Given the description of an element on the screen output the (x, y) to click on. 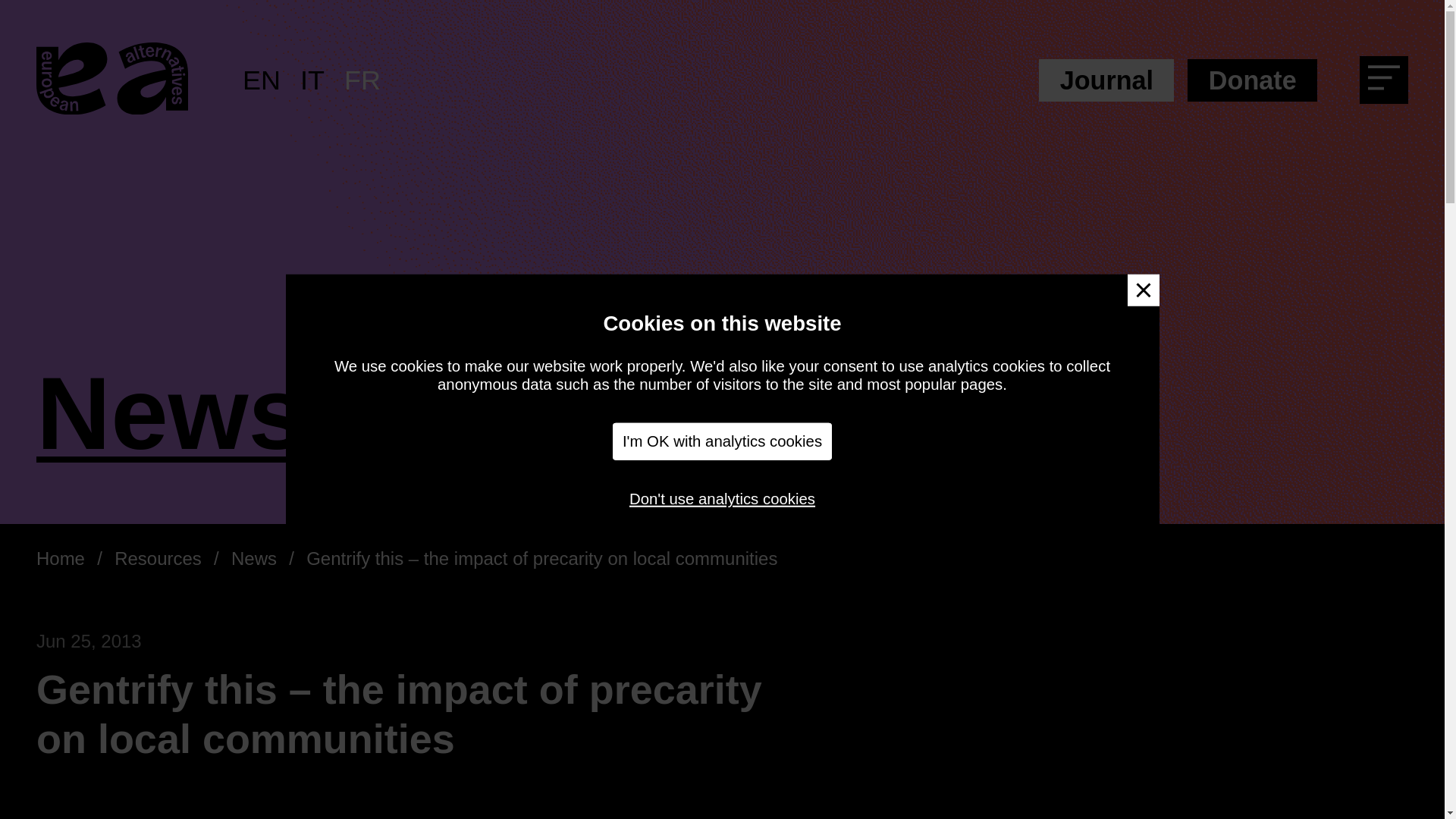
FR (361, 79)
EN (262, 79)
Dismiss message (1142, 290)
Donate (1252, 79)
Menu (1389, 82)
EN (262, 79)
FR (361, 79)
I'm OK with analytics cookies (722, 441)
Go to the European Alternatives home page (111, 79)
Journal (1106, 79)
